Given the description of an element on the screen output the (x, y) to click on. 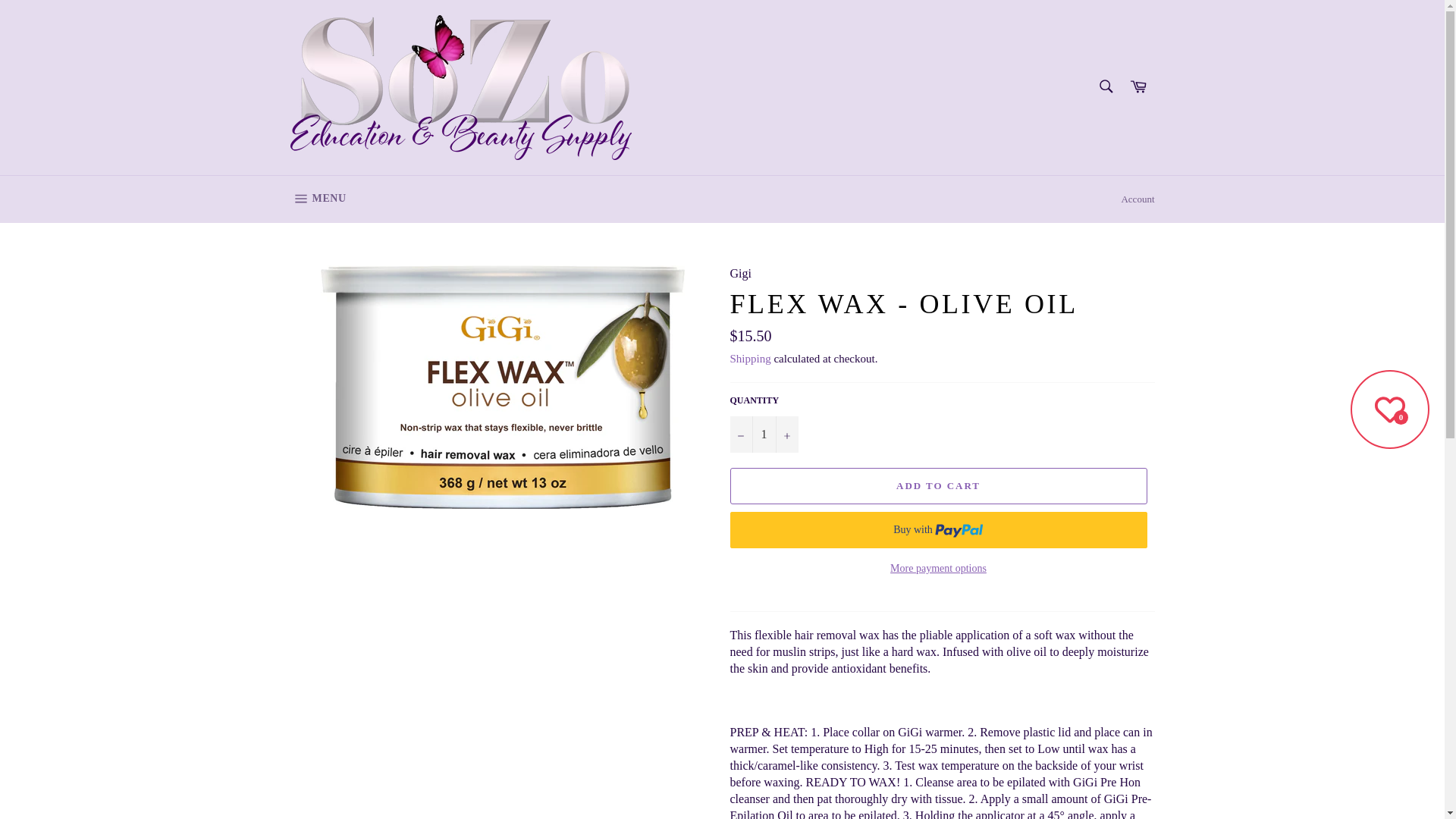
1 (318, 199)
Cart (763, 434)
Search (1138, 87)
